Given the description of an element on the screen output the (x, y) to click on. 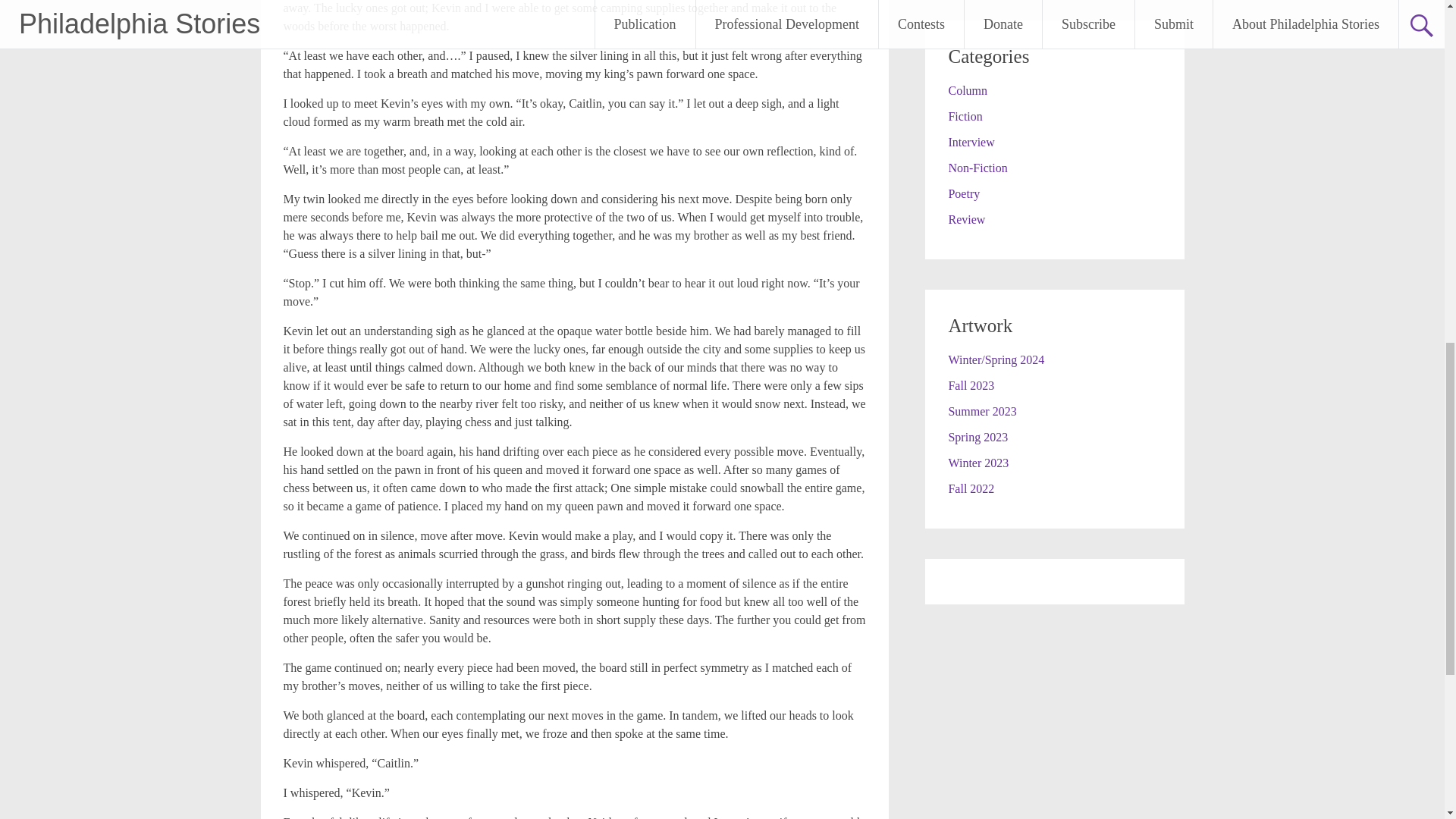
Non-Fiction (977, 167)
Fiction (964, 115)
Column (967, 90)
Review (966, 219)
Interview (970, 141)
Fall 2023 (970, 385)
Poetry (963, 193)
